Given the description of an element on the screen output the (x, y) to click on. 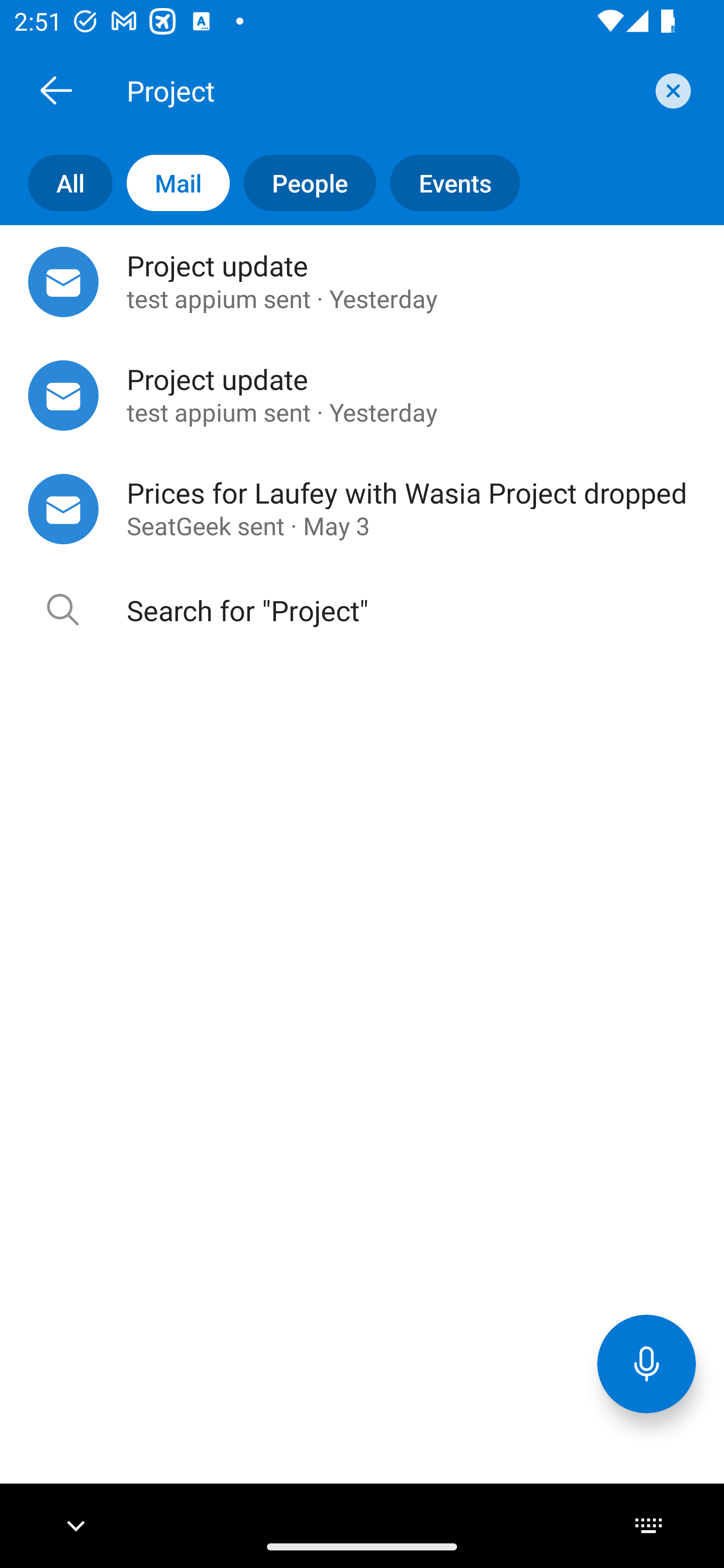
Back (55, 89)
Project (384, 89)
clear search (670, 90)
All (56, 183)
People (302, 183)
Events (447, 183)
Voice Assistant (646, 1362)
